Given the description of an element on the screen output the (x, y) to click on. 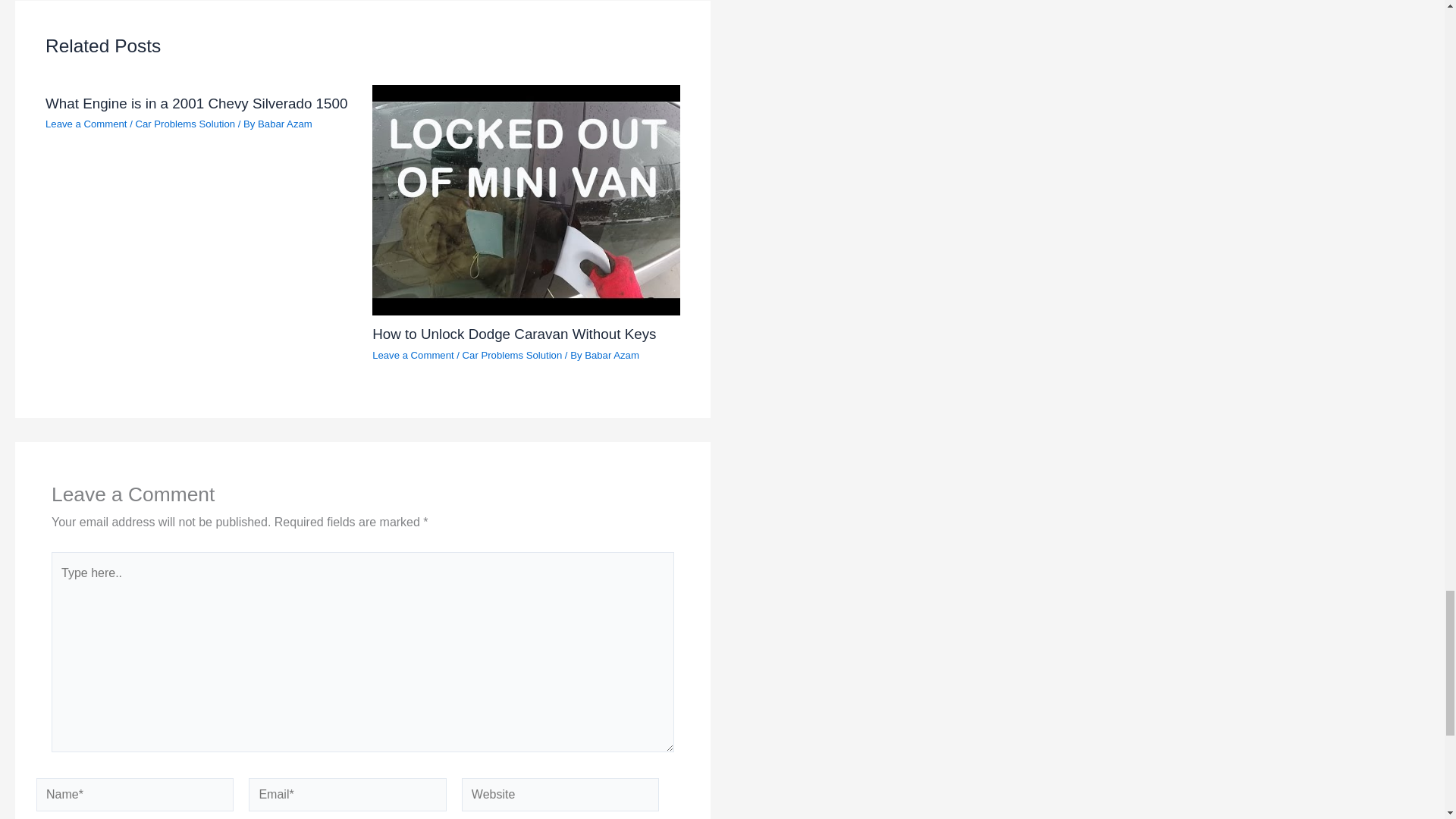
Leave a Comment (86, 123)
Leave a Comment (413, 355)
Babar Azam (612, 355)
Babar Azam (285, 123)
What Engine is in a 2001 Chevy Silverado 1500 (196, 103)
How to Unlock Dodge Caravan Without Keys (514, 333)
View all posts by Babar Azam (612, 355)
Car Problems Solution (512, 355)
Car Problems Solution (184, 123)
View all posts by Babar Azam (285, 123)
